Given the description of an element on the screen output the (x, y) to click on. 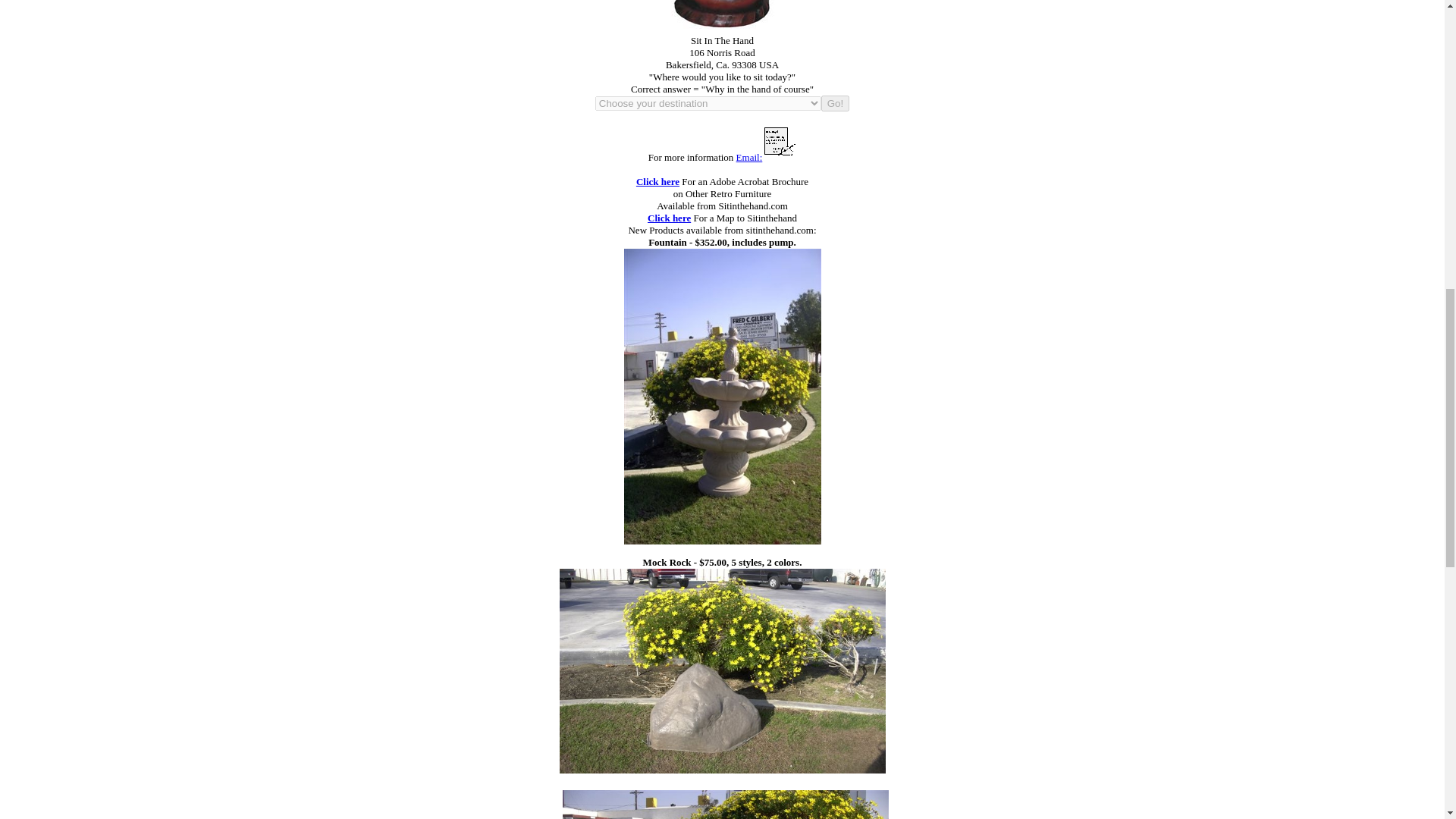
Email: (749, 156)
Click here (657, 181)
Go! (834, 103)
Click here (668, 217)
